Given the description of an element on the screen output the (x, y) to click on. 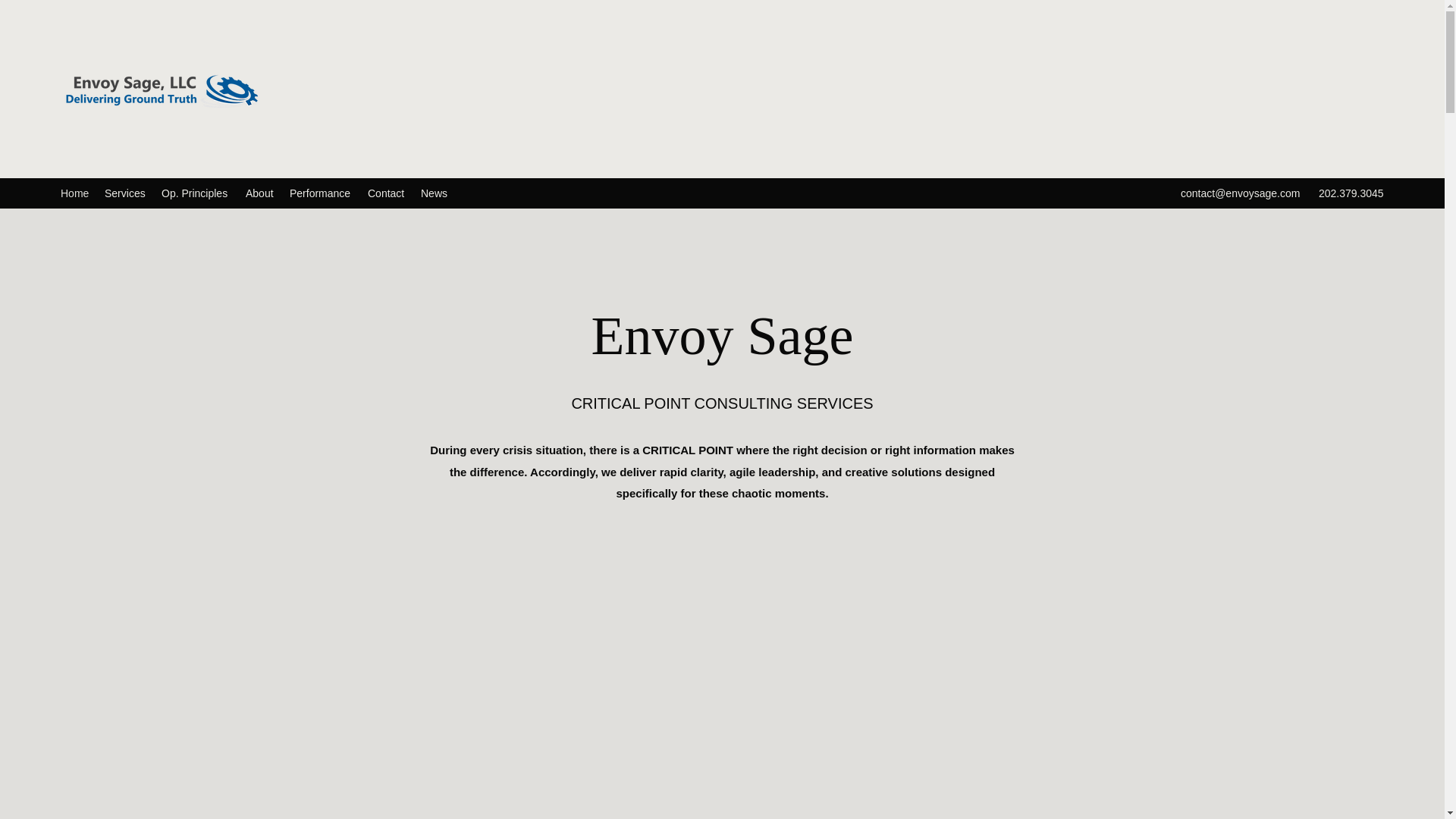
Performance (320, 192)
Services (125, 192)
About (260, 192)
Contact (386, 192)
Home (74, 192)
News (433, 192)
Op. Principles (196, 192)
